Given the description of an element on the screen output the (x, y) to click on. 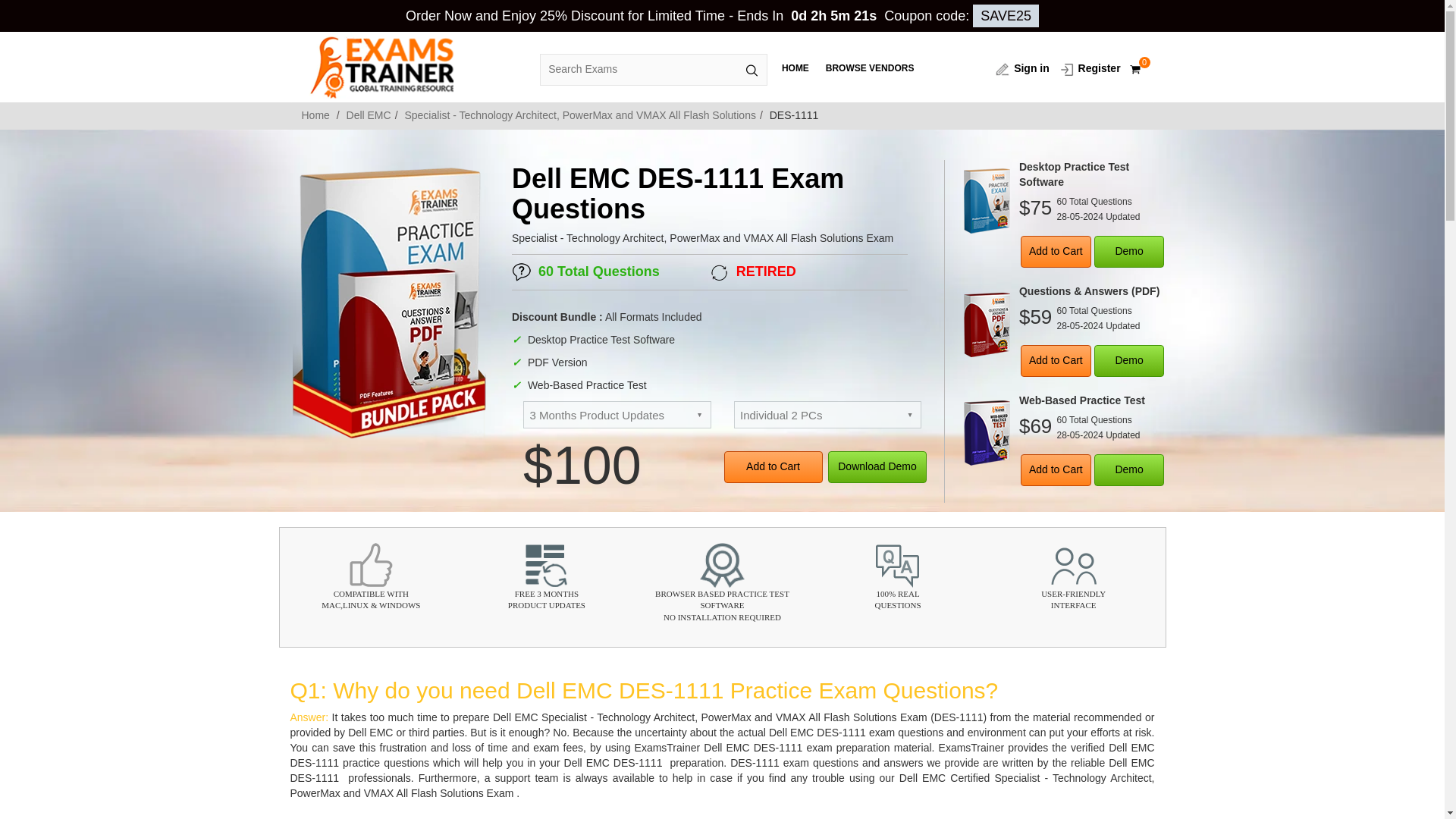
Sign in (1021, 68)
Download Demo (877, 467)
Register (1089, 68)
Add to Cart (772, 467)
Dell EMC (368, 114)
HOME (795, 68)
Demo (1129, 470)
Add to Cart (1055, 360)
BROWSE VENDORS (869, 68)
Add to Cart (1055, 470)
Home (317, 114)
Demo (1129, 360)
Demo (1129, 251)
Add to Cart (1055, 251)
